Given the description of an element on the screen output the (x, y) to click on. 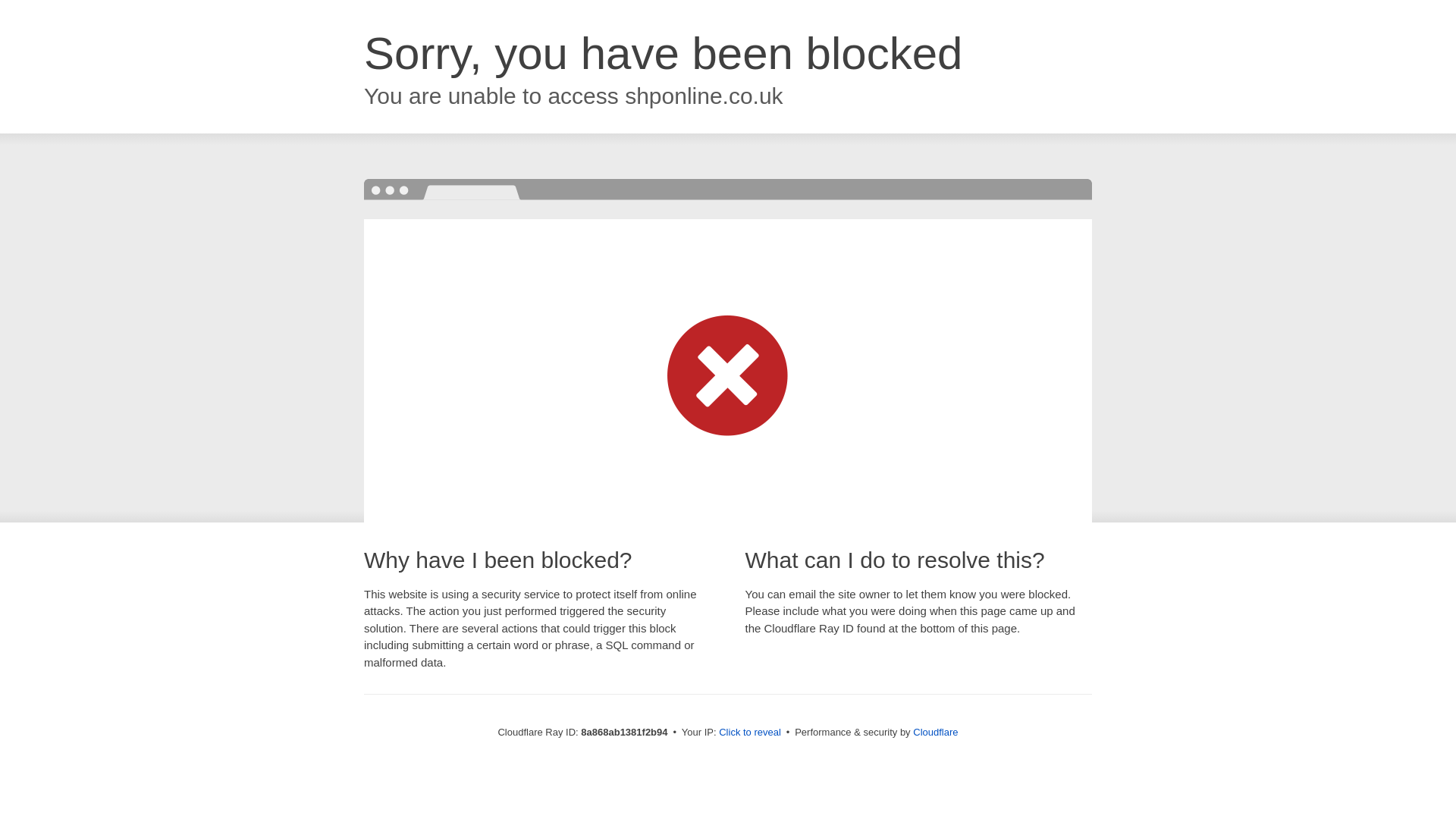
Cloudflare (935, 731)
Click to reveal (749, 732)
